Given the description of an element on the screen output the (x, y) to click on. 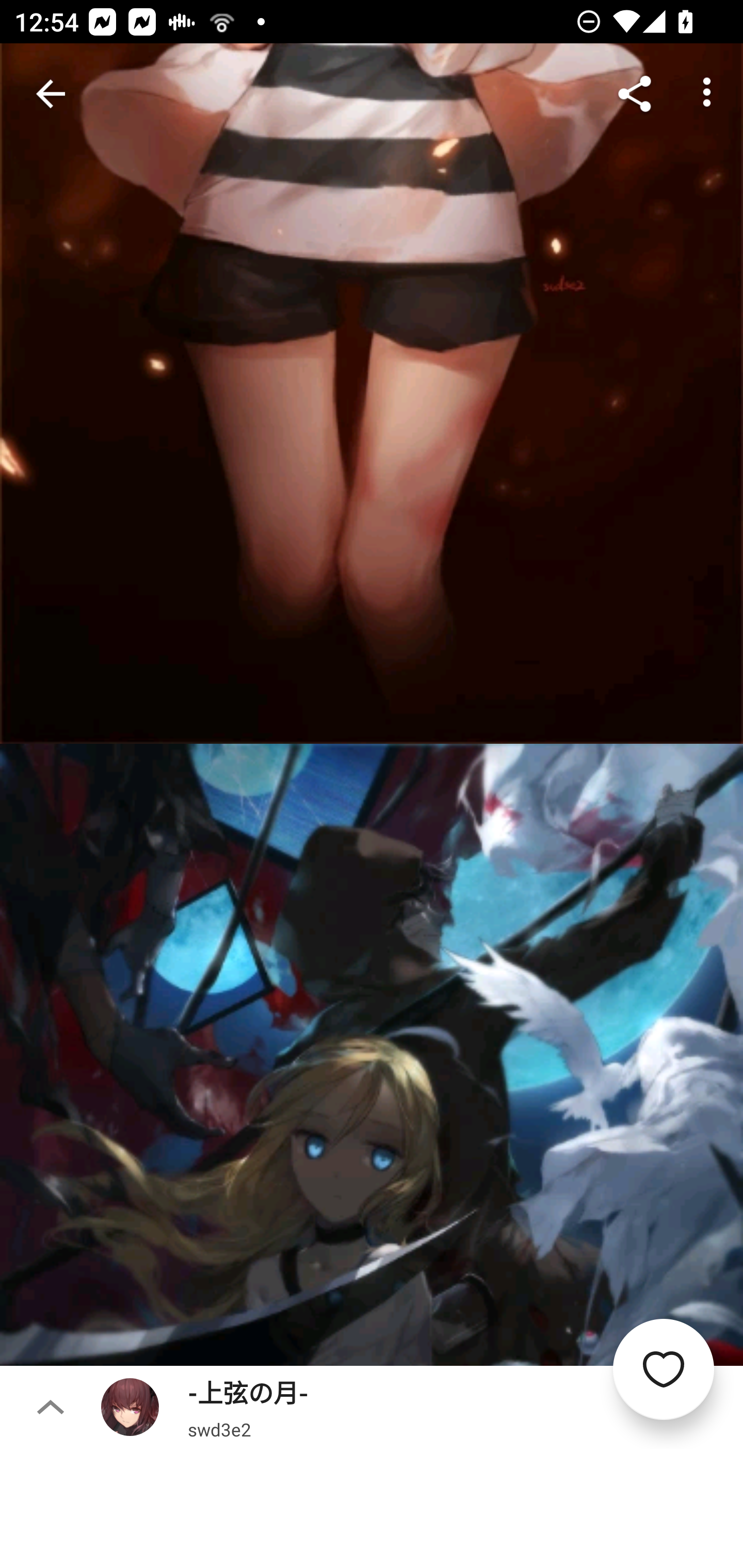
Share (634, 93)
More options (706, 93)
swd3e2 (219, 1428)
